Given the description of an element on the screen output the (x, y) to click on. 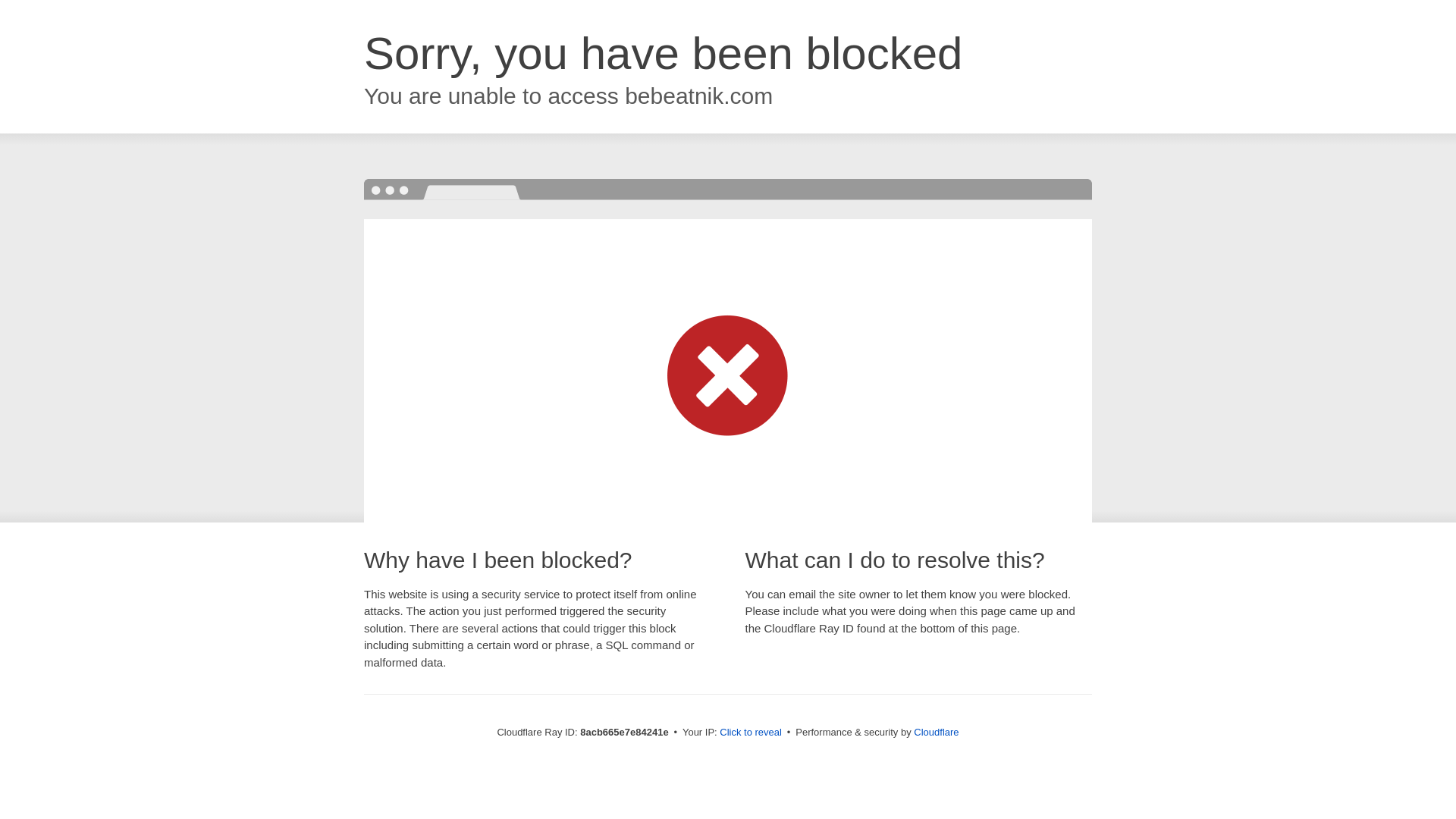
Click to reveal (750, 732)
Cloudflare (936, 731)
